Given the description of an element on the screen output the (x, y) to click on. 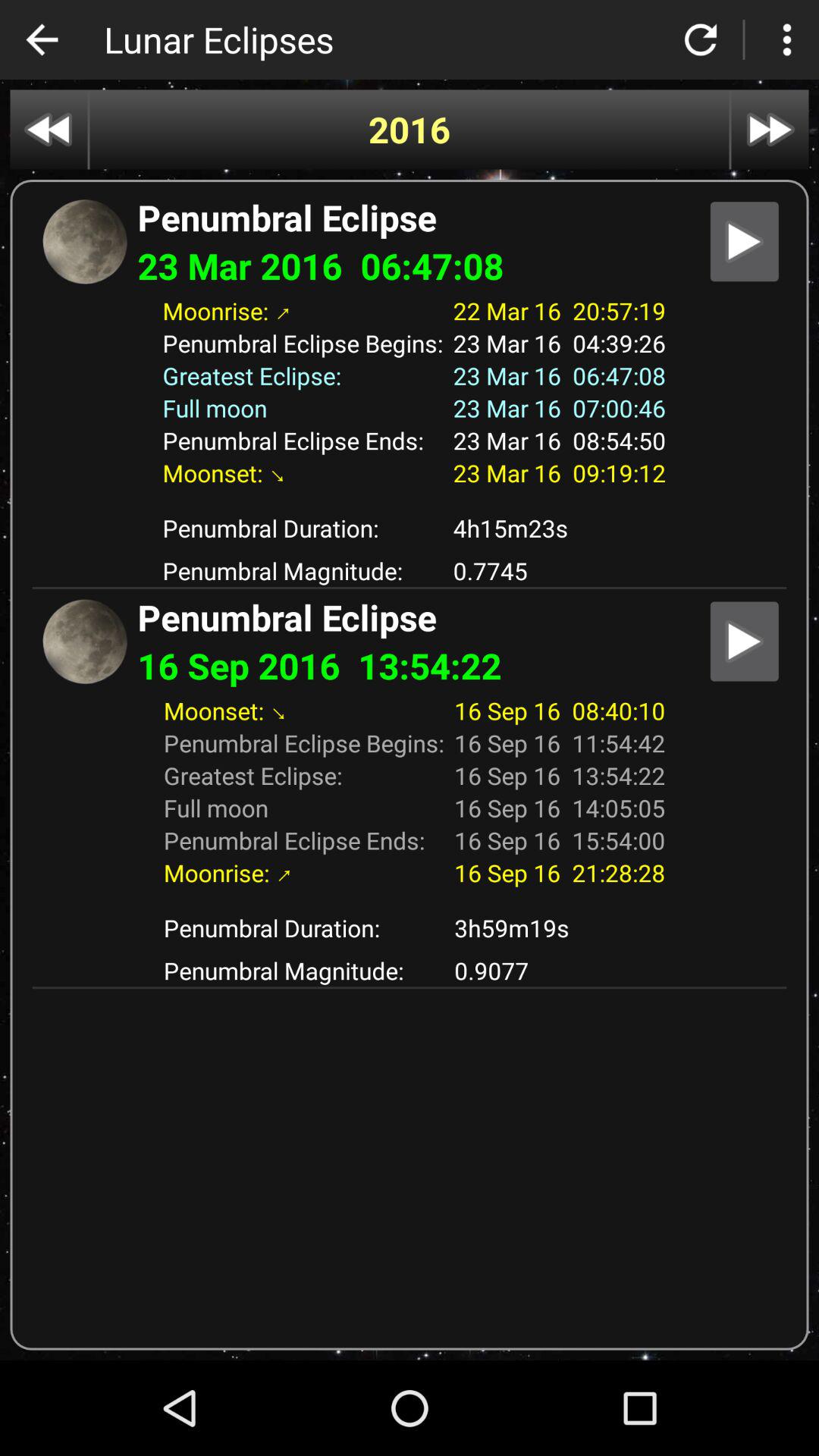
settings (787, 39)
